Given the description of an element on the screen output the (x, y) to click on. 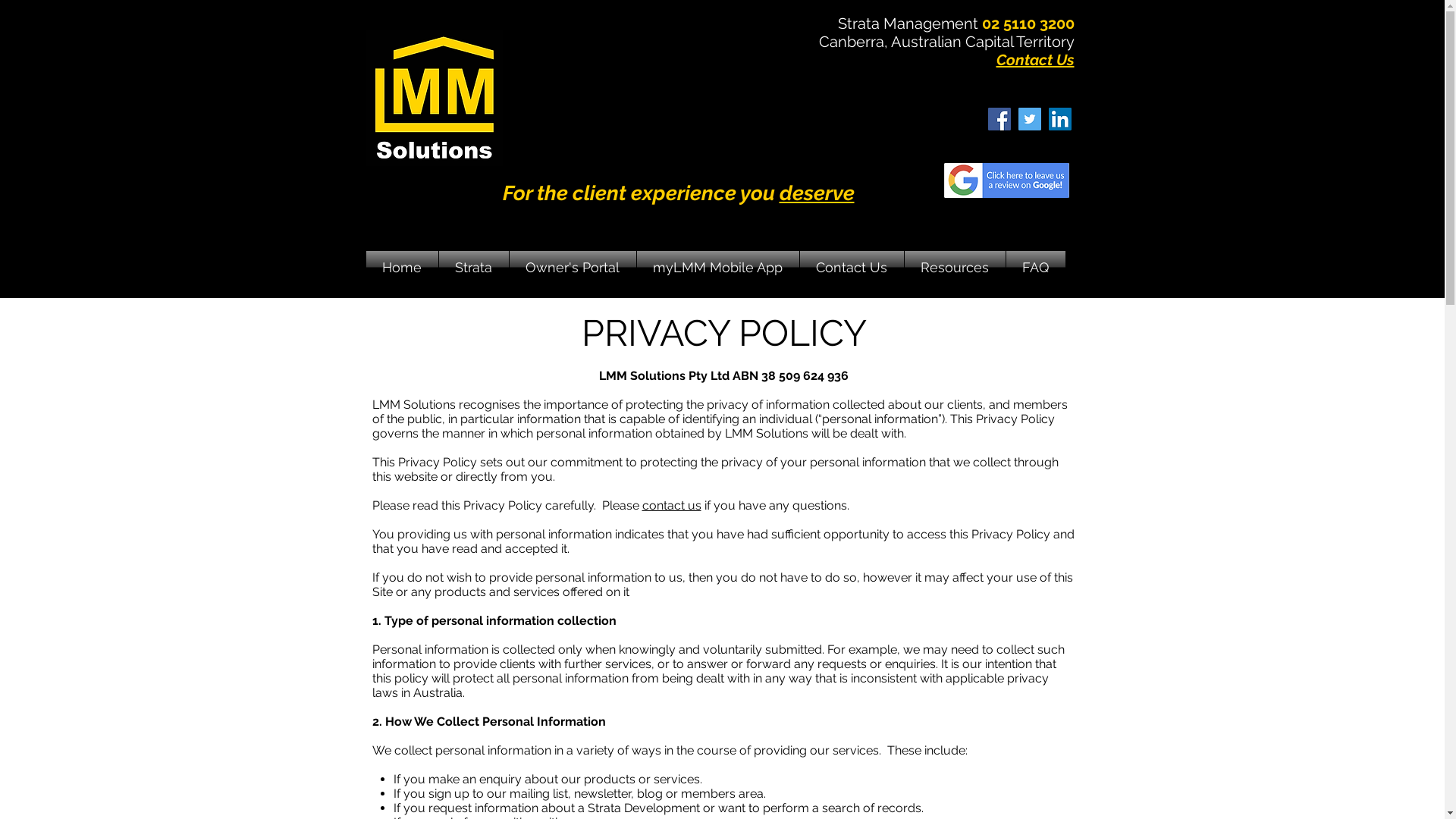
Owner's Portal Element type: text (572, 267)
contact us Element type: text (670, 505)
Home Element type: text (401, 267)
myLMM Mobile App Element type: text (718, 267)
LMM Logo.png Element type: hover (433, 97)
Contact Us Element type: text (851, 267)
02 5110 3200 Element type: text (1027, 23)
FAQ Element type: text (1034, 267)
Strata Element type: text (473, 267)
Contact Us Element type: text (1035, 59)
Resources Element type: text (953, 267)
